Given the description of an element on the screen output the (x, y) to click on. 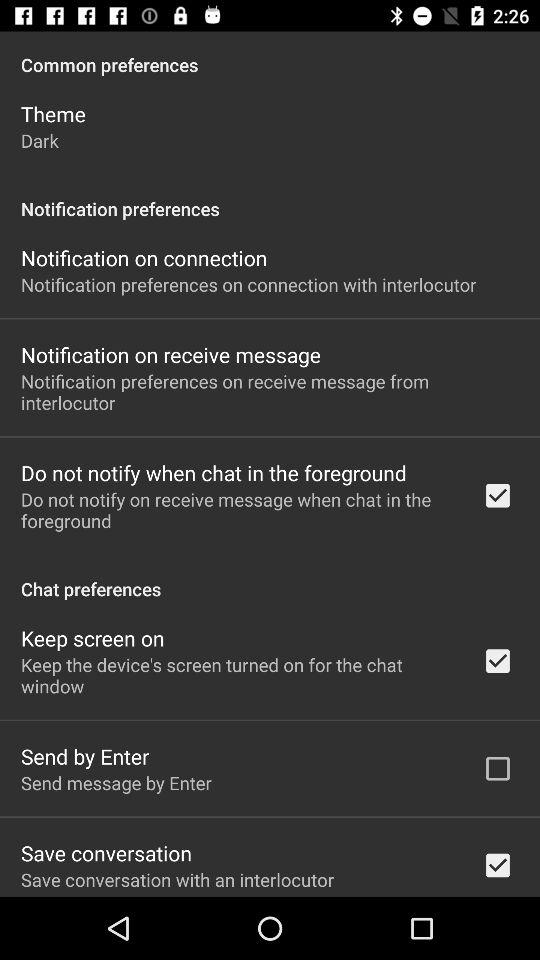
turn off item above theme app (270, 54)
